Given the description of an element on the screen output the (x, y) to click on. 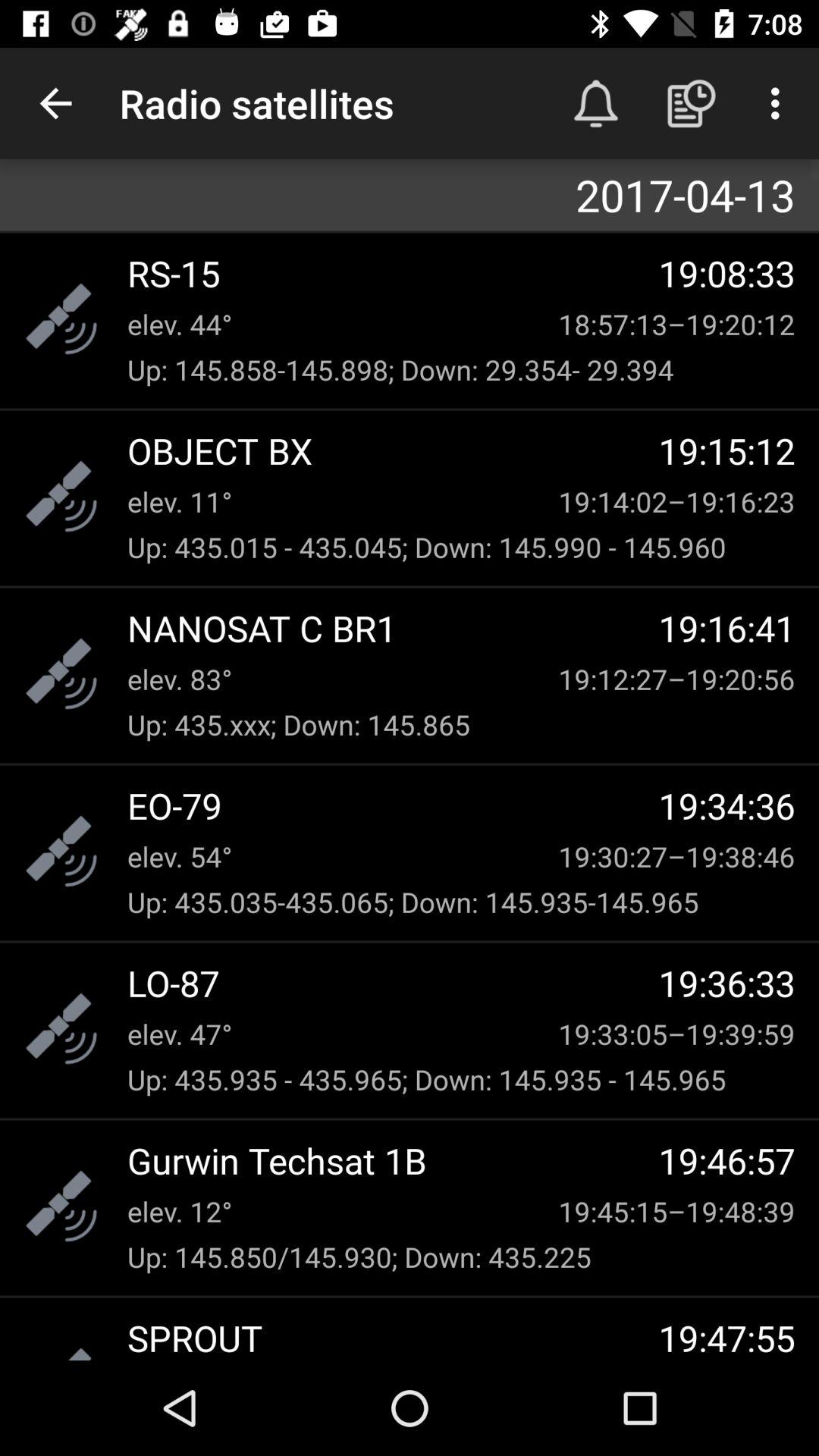
tap item next to the 19:08:33 (392, 273)
